Given the description of an element on the screen output the (x, y) to click on. 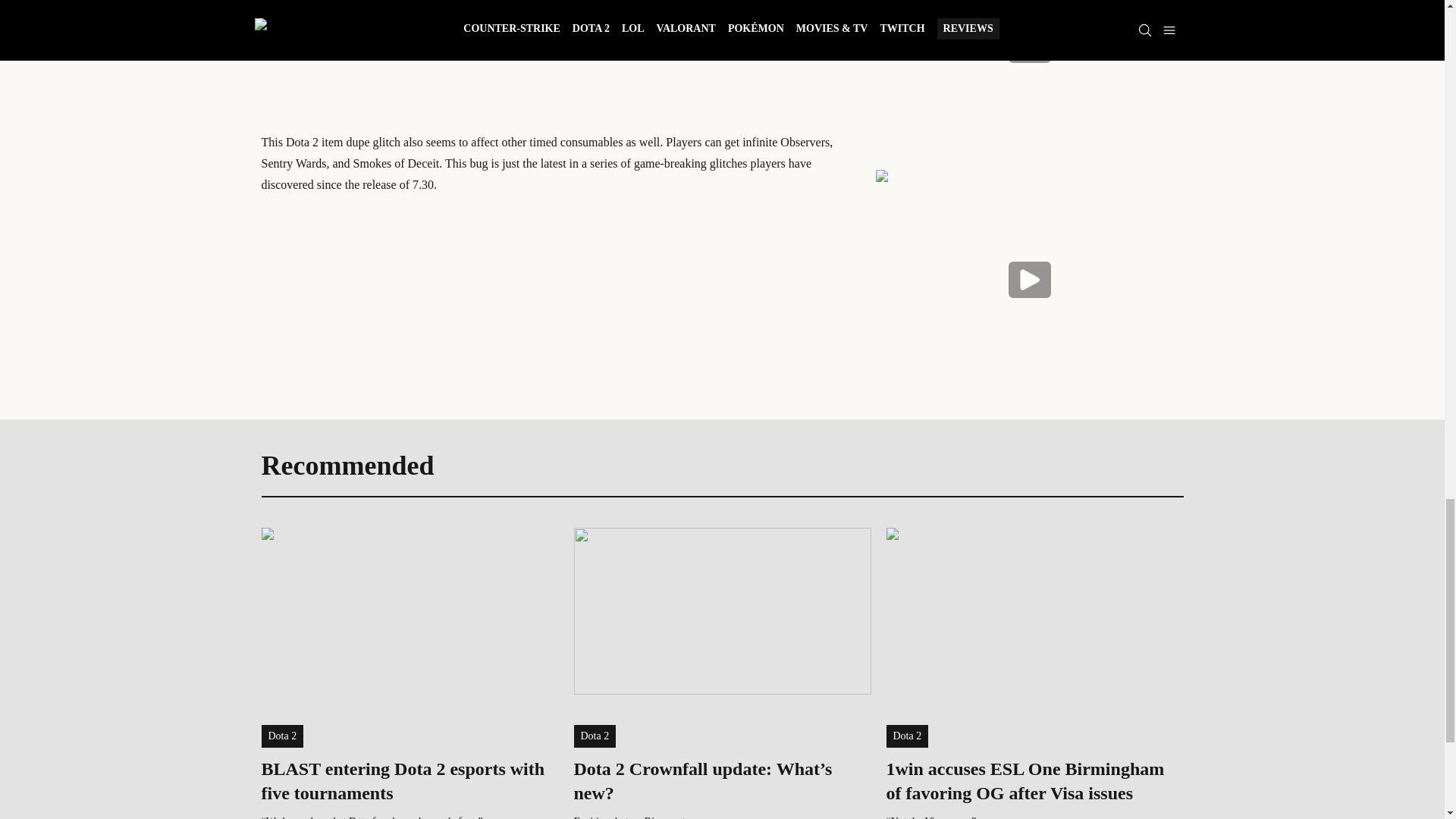
game-breaking glitches (690, 163)
BLAST entering Dota 2 esports with five tournaments (408, 780)
Dota 2 (594, 735)
a series (598, 163)
Dota 2 (281, 735)
